Given the description of an element on the screen output the (x, y) to click on. 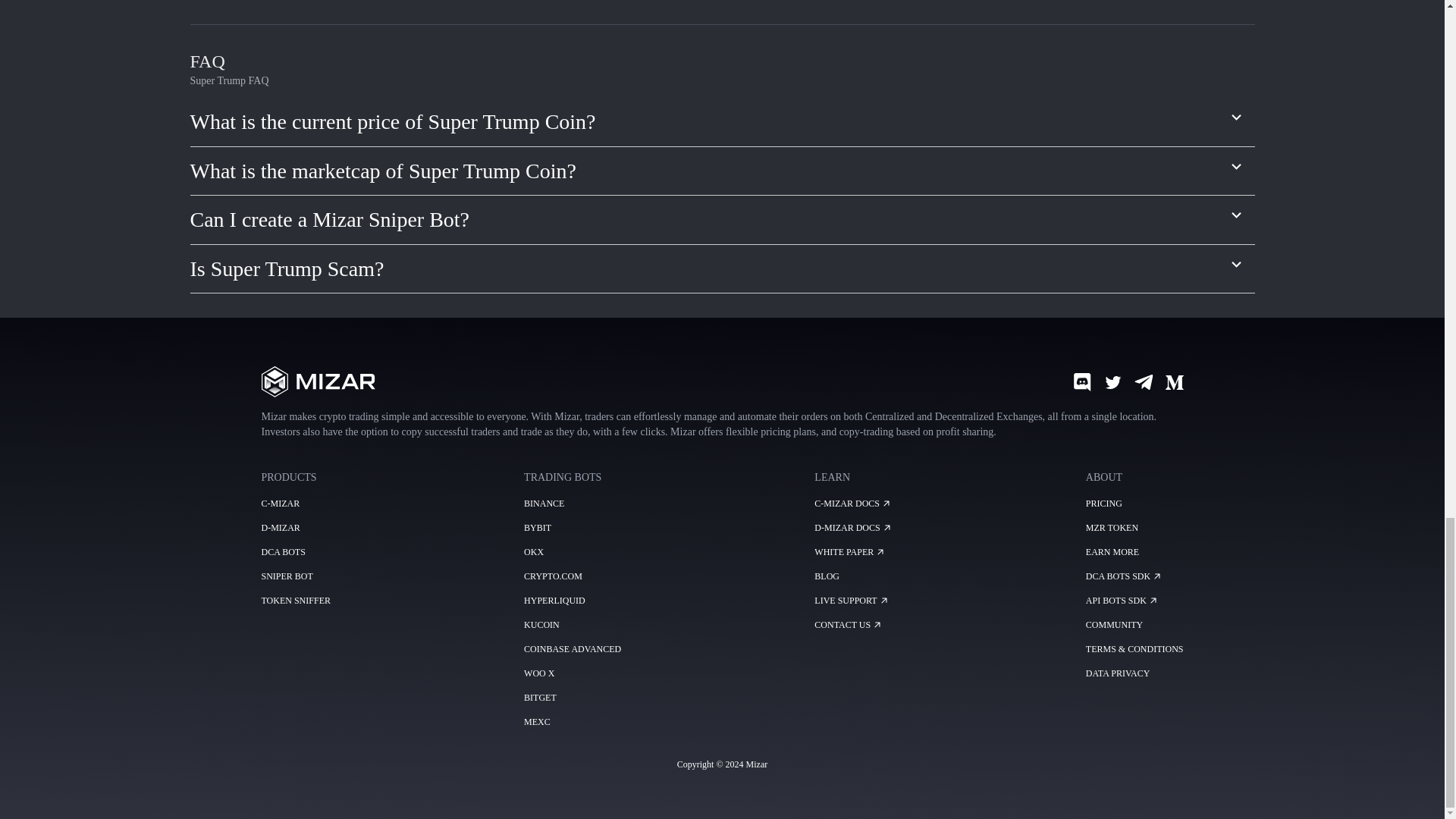
twitter (1112, 382)
medium (1173, 382)
telegram (1143, 382)
TOKEN SNIFFER (295, 600)
discord (1080, 382)
C-MIZAR (279, 502)
D-MIZAR (279, 527)
SNIPER BOT (286, 575)
DCA BOTS (282, 552)
